Given the description of an element on the screen output the (x, y) to click on. 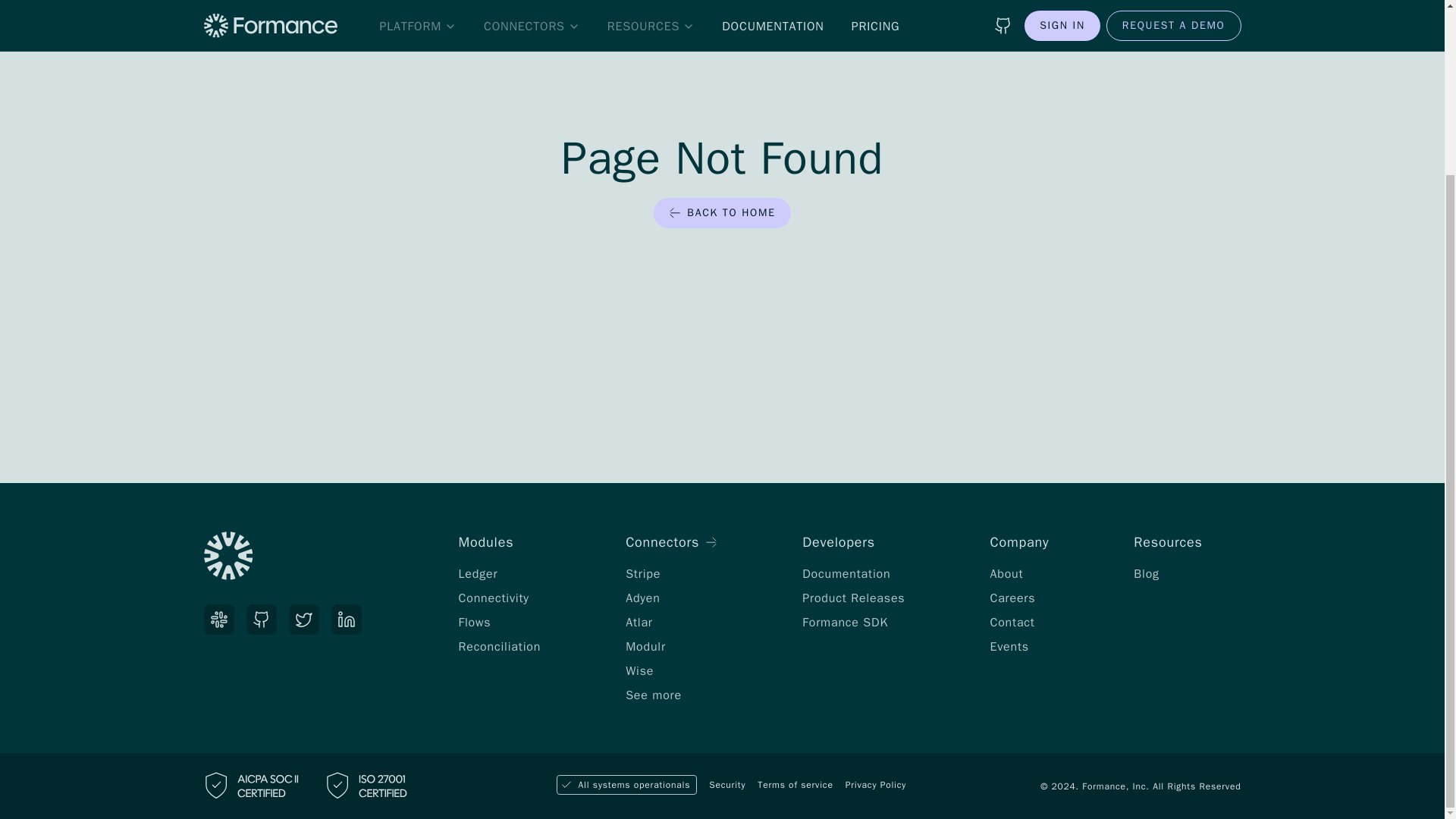
Privacy Policy (875, 784)
Careers (1012, 598)
All systems operationals (626, 784)
About (1006, 573)
Adyen (643, 598)
Wise (639, 670)
Connectivity (493, 598)
Events (1008, 646)
Formance SDK (845, 622)
Ledger (477, 573)
